Given the description of an element on the screen output the (x, y) to click on. 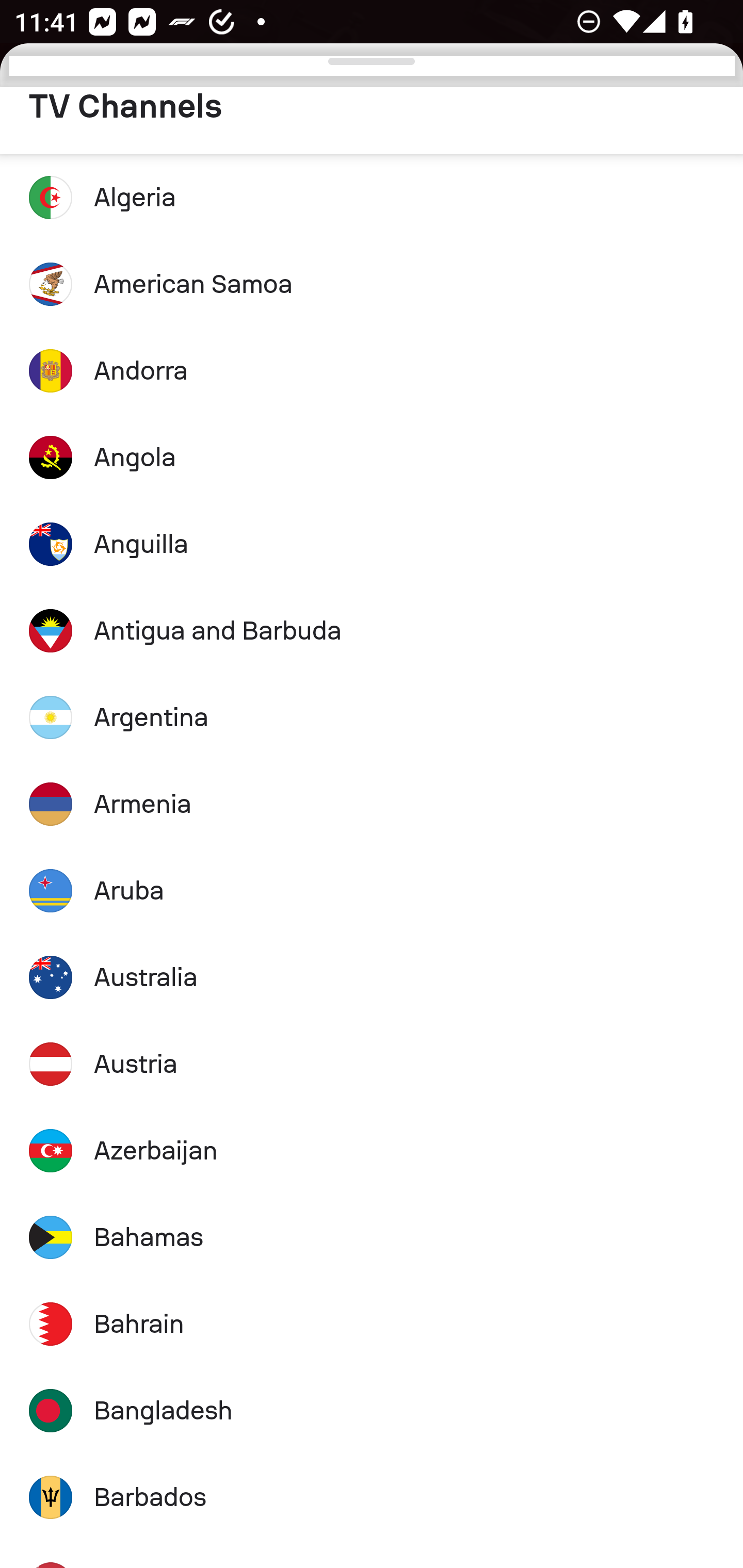
Algeria (371, 197)
American Samoa (371, 284)
Andorra (371, 370)
Angola (371, 456)
Anguilla (371, 544)
Antigua and Barbuda (371, 631)
Argentina (371, 717)
Armenia (371, 803)
Aruba (371, 890)
Australia (371, 977)
Austria (371, 1063)
Azerbaijan (371, 1150)
Bahamas (371, 1237)
Bahrain (371, 1324)
Bangladesh (371, 1410)
Barbados (371, 1497)
